Given the description of an element on the screen output the (x, y) to click on. 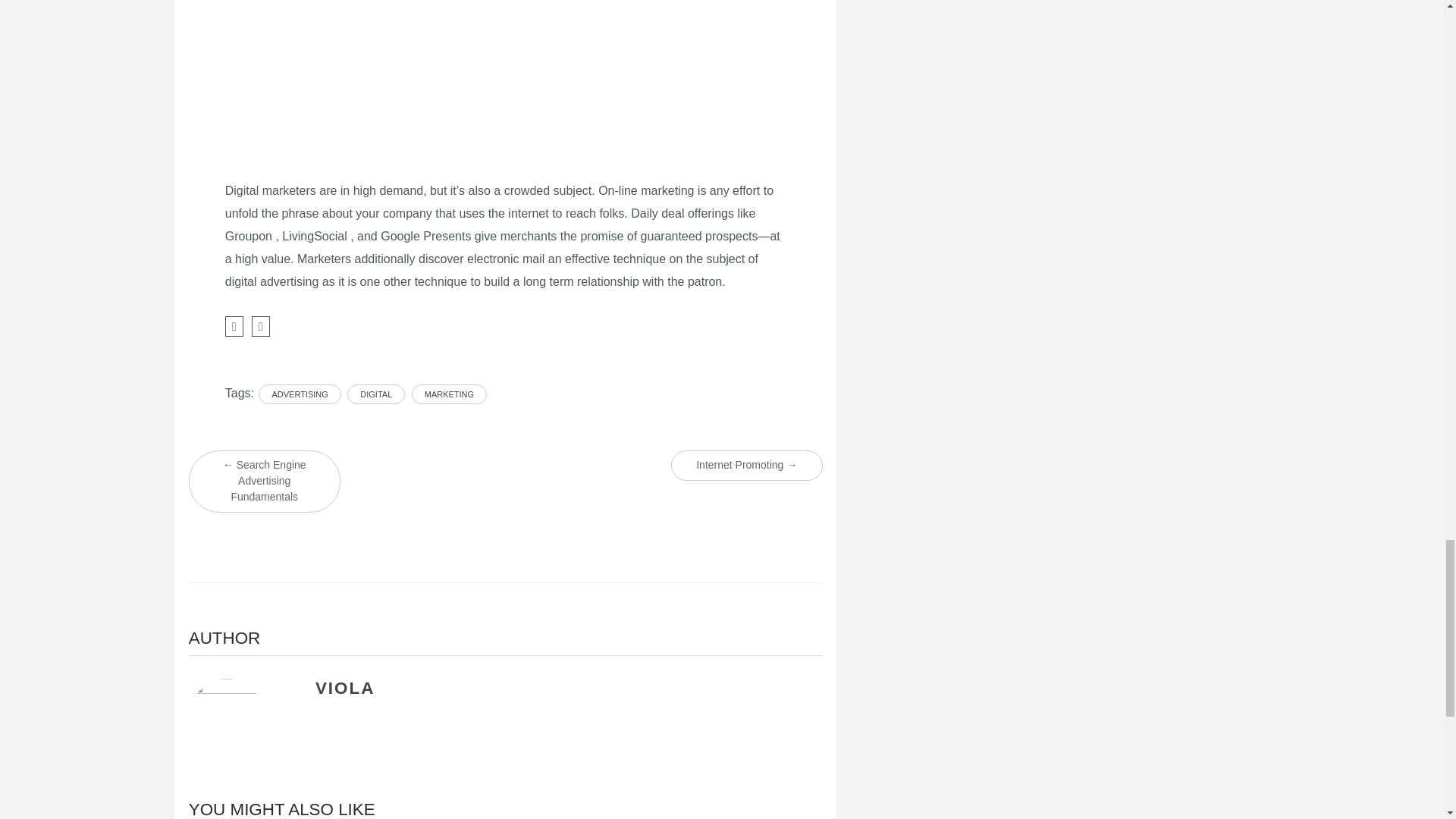
Posts by viola (344, 687)
DIGITAL (375, 394)
MARKETING (449, 394)
share on Twitter (260, 326)
ADVERTISING (299, 394)
share on Facebook (234, 326)
